Given the description of an element on the screen output the (x, y) to click on. 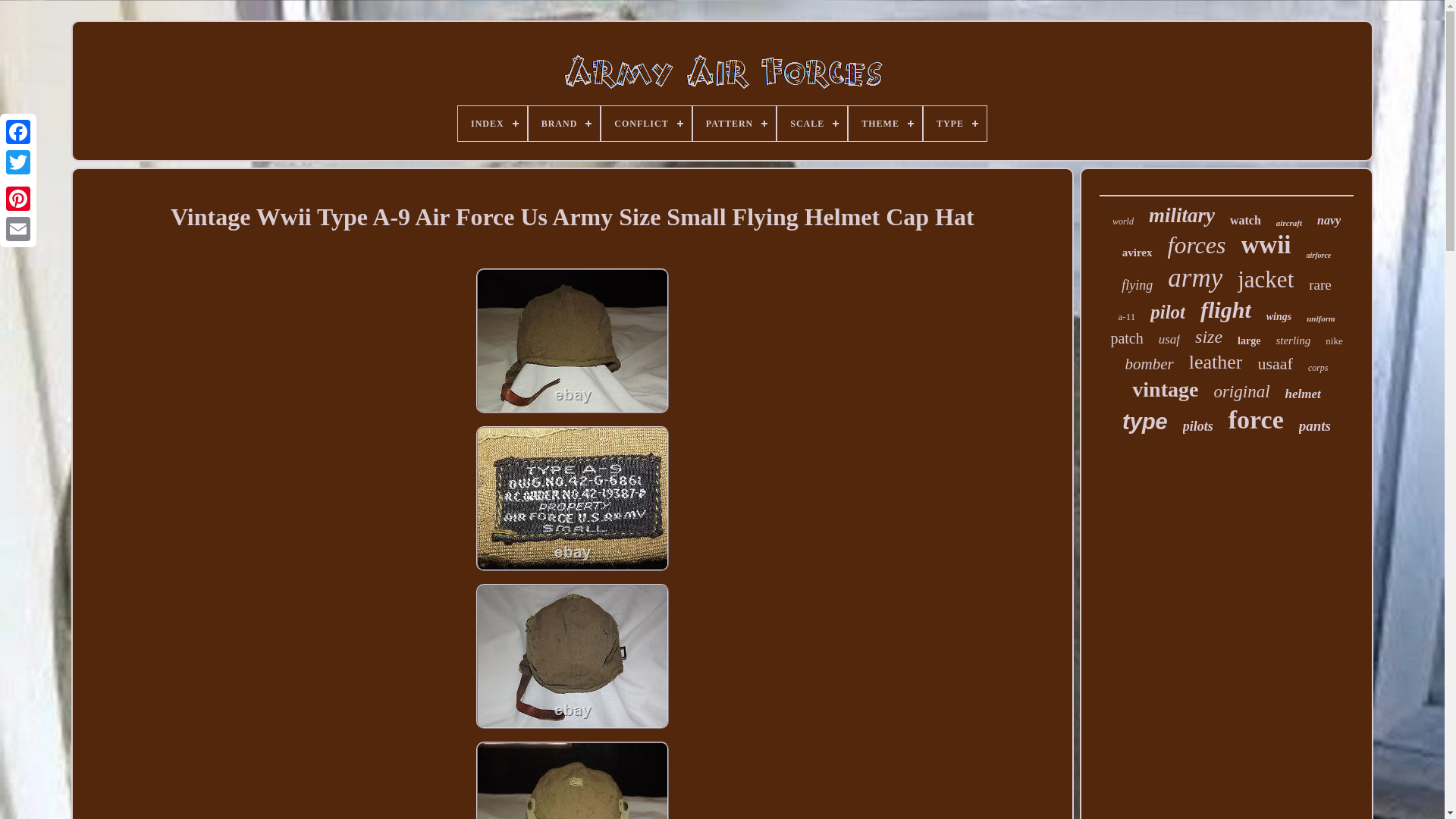
CONFLICT (645, 123)
PATTERN (734, 123)
BRAND (563, 123)
INDEX (492, 123)
